Given the description of an element on the screen output the (x, y) to click on. 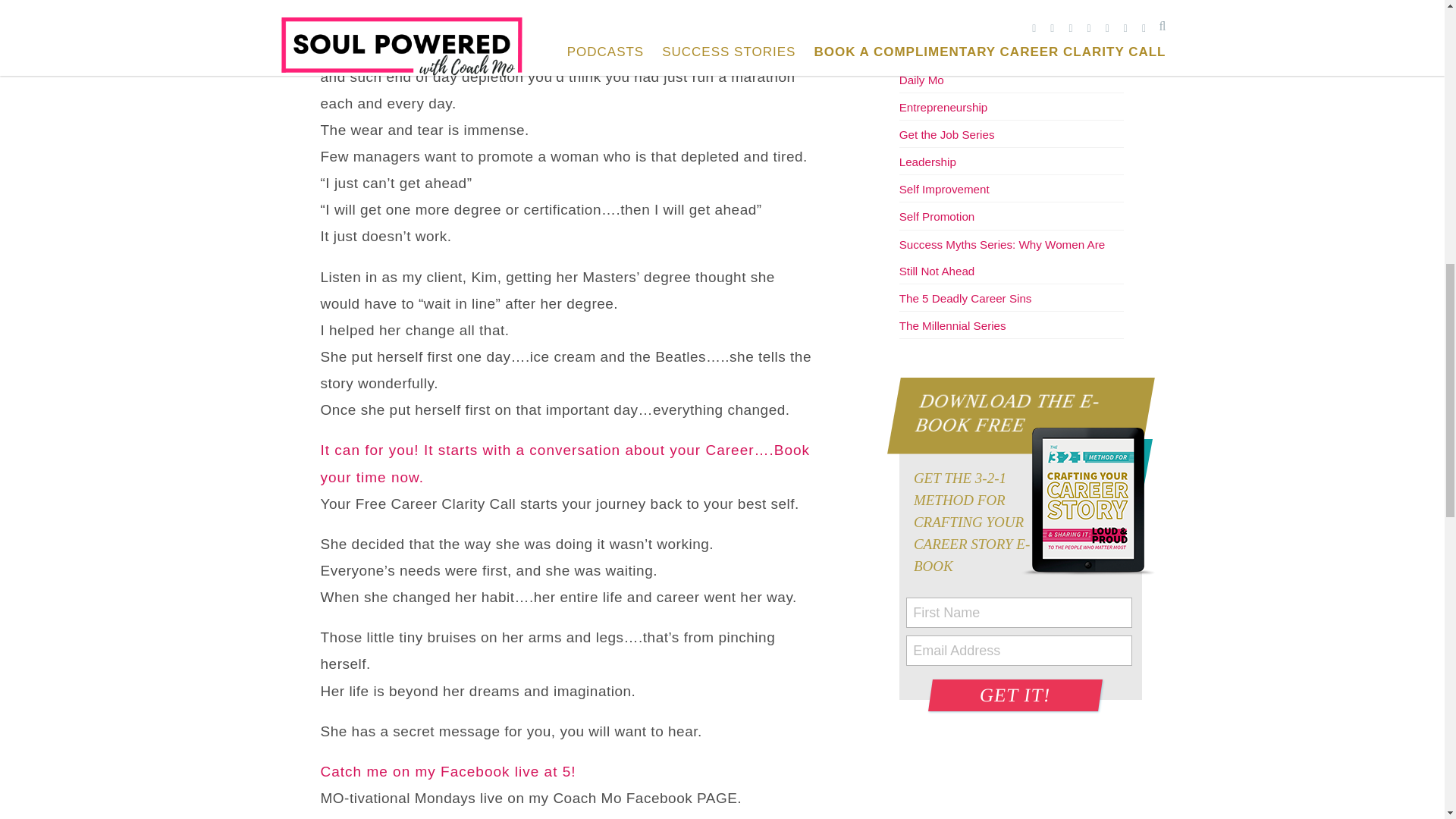
Catch me on my Facebook live at 5! (447, 771)
GET IT! (1012, 695)
